Given the description of an element on the screen output the (x, y) to click on. 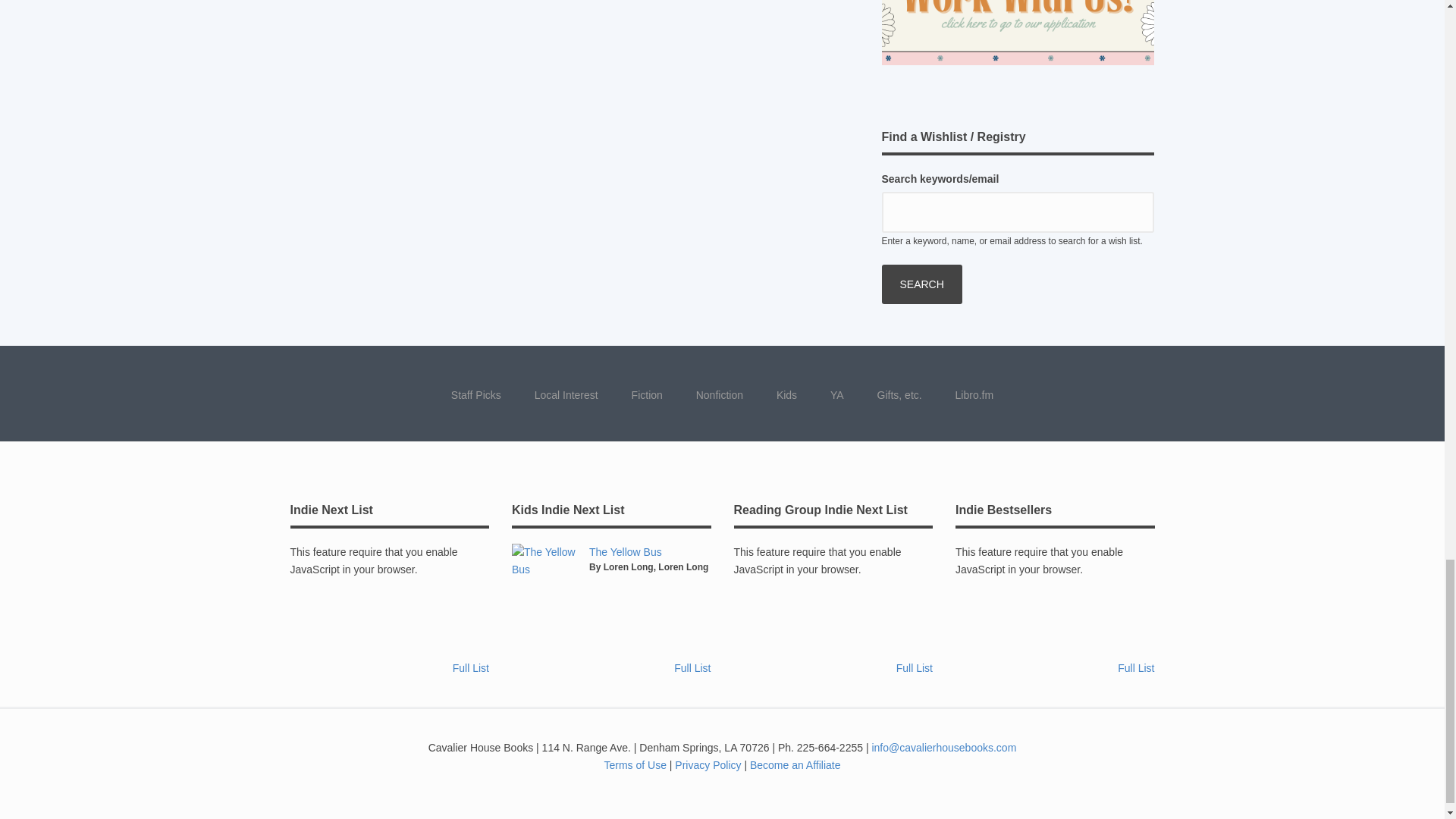
Search (920, 283)
